Given the description of an element on the screen output the (x, y) to click on. 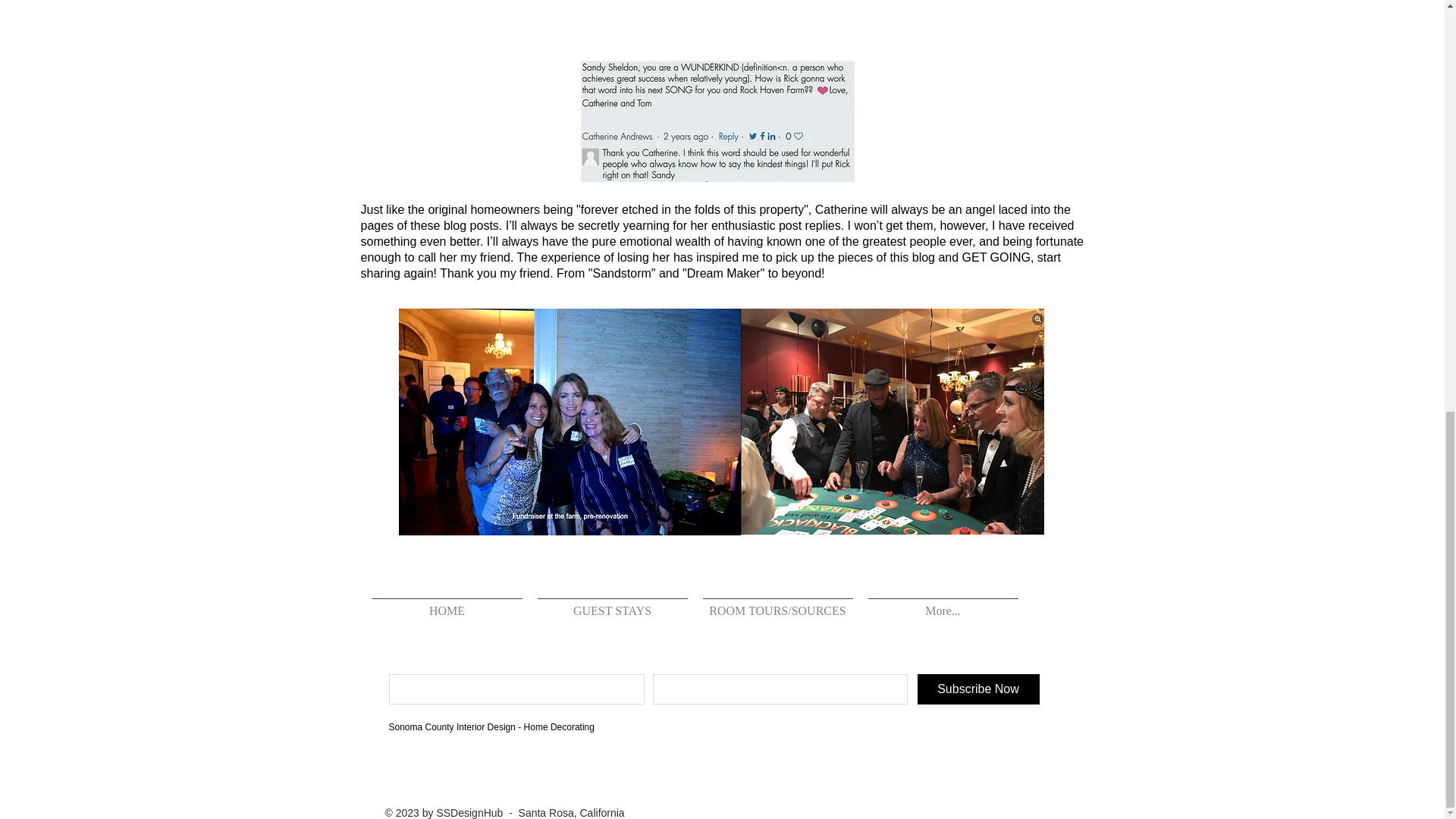
HOME (446, 604)
GUEST STAYS (611, 604)
Charity event for Cots Homeless Shelter, Santa Rosa, CA (569, 421)
